Given the description of an element on the screen output the (x, y) to click on. 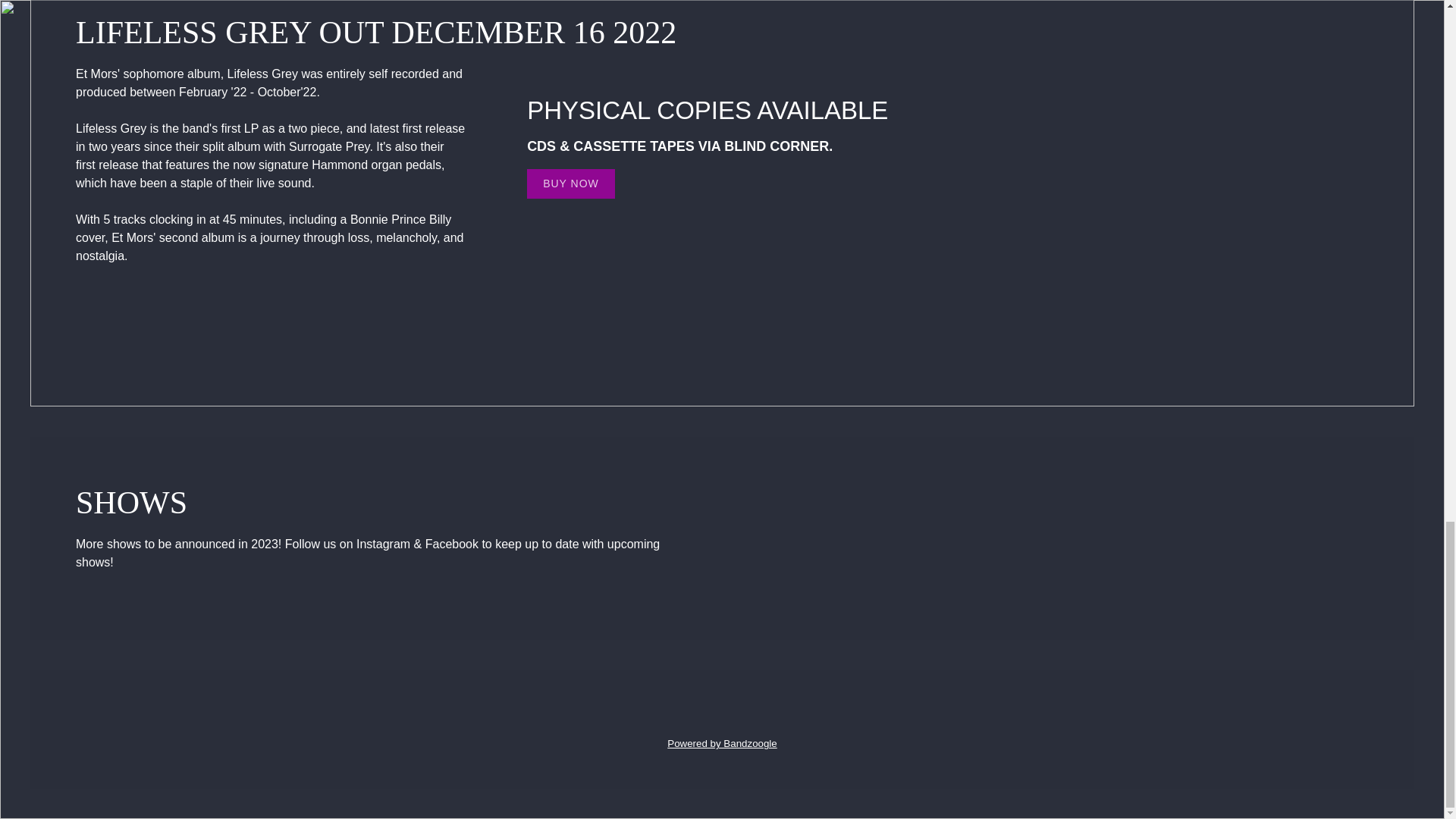
Powered by Bandzoogle (721, 743)
BUY NOW (570, 183)
Powered by Bandzoogle (721, 743)
